Given the description of an element on the screen output the (x, y) to click on. 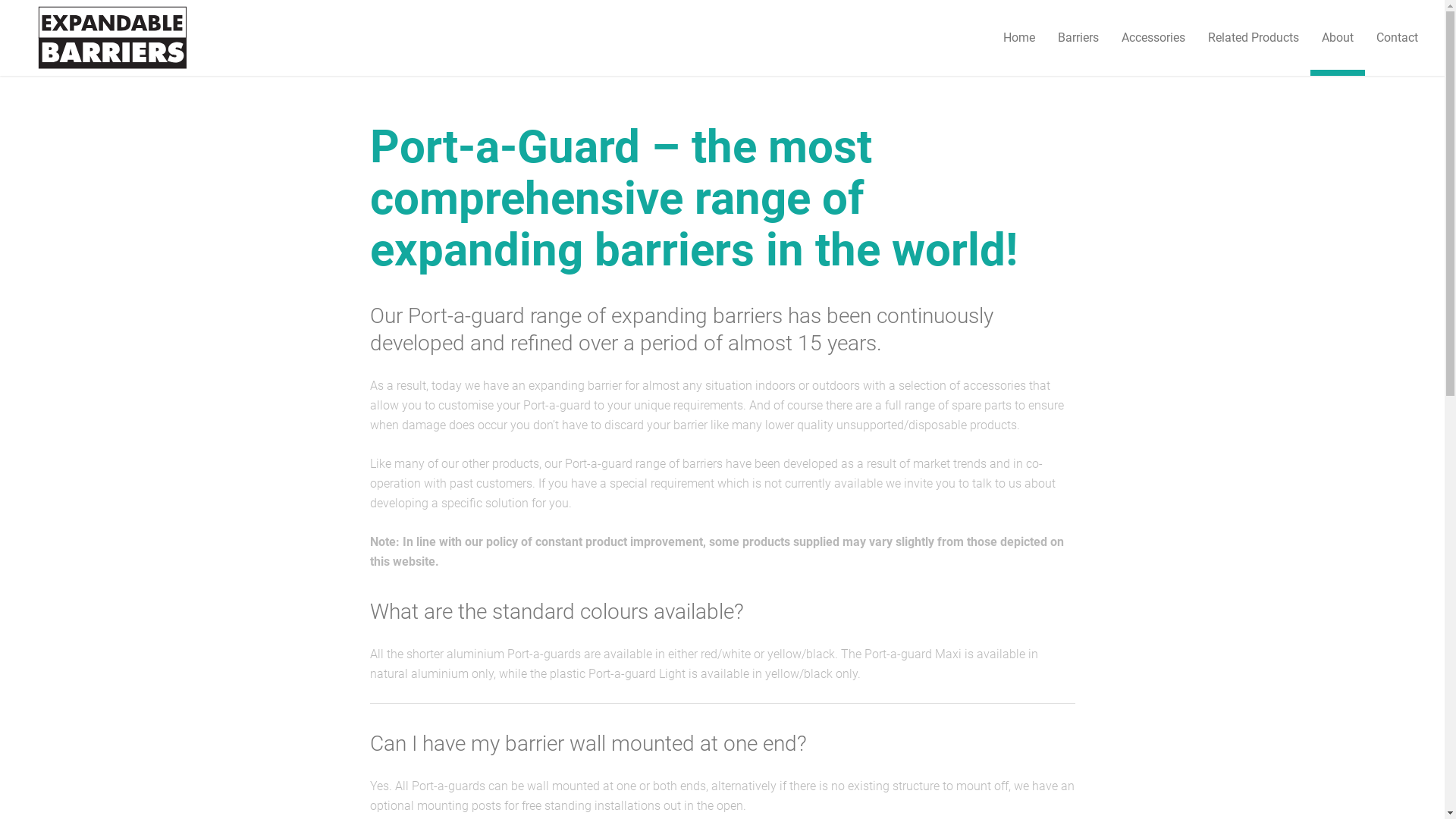
Home Element type: text (1018, 37)
Barriers Element type: text (1078, 37)
Contact Element type: text (1397, 37)
Accessories Element type: text (1153, 37)
About Element type: text (1337, 37)
Related Products Element type: text (1253, 37)
